Given the description of an element on the screen output the (x, y) to click on. 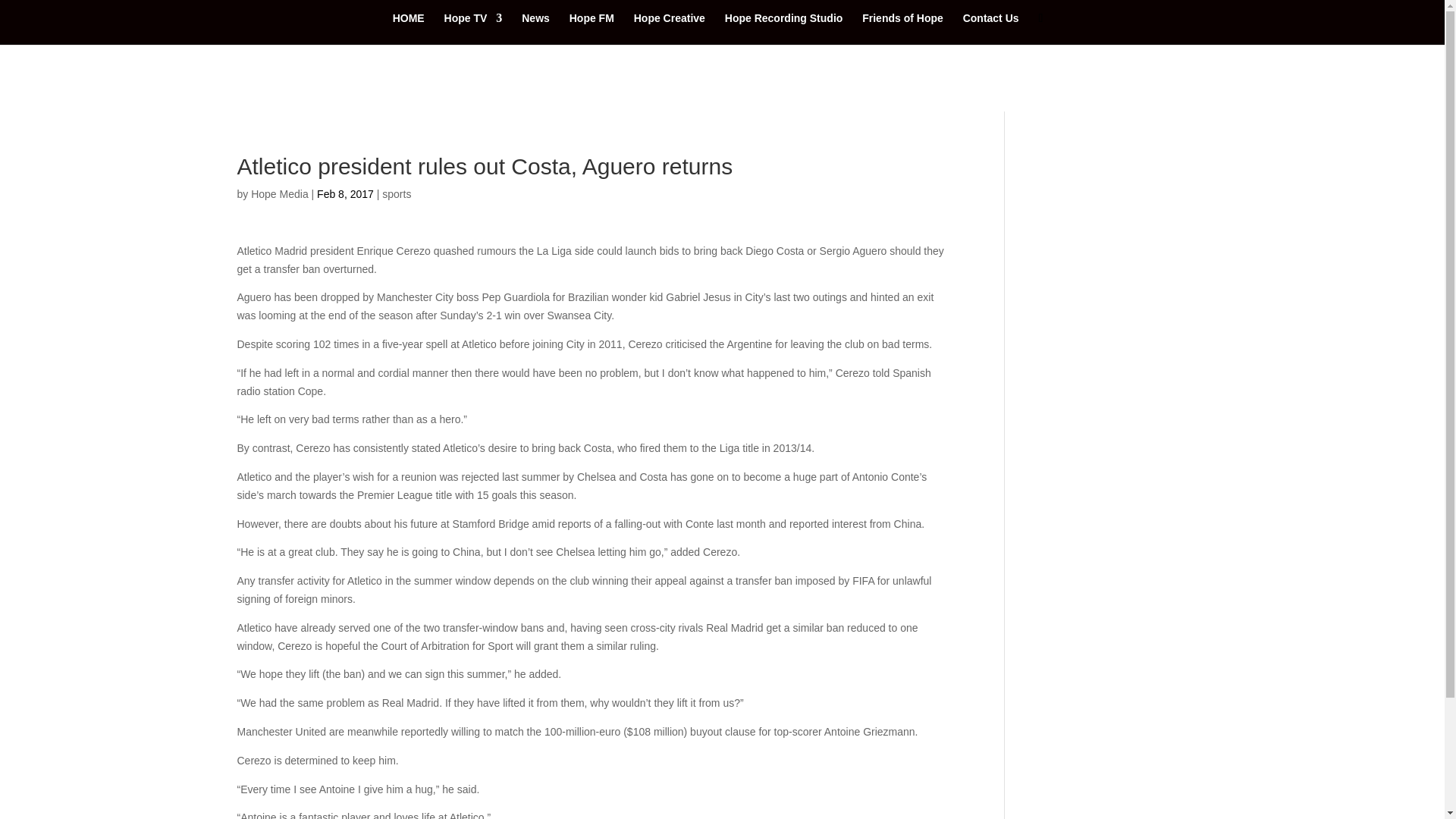
Contact Us (990, 29)
Hope Creative (668, 29)
Hope TV (473, 29)
Hope FM (591, 29)
sports (395, 193)
Hope Media (279, 193)
Posts by Hope Media (279, 193)
Hope Recording Studio (784, 29)
HOME (409, 29)
Friends of Hope (902, 29)
